Given the description of an element on the screen output the (x, y) to click on. 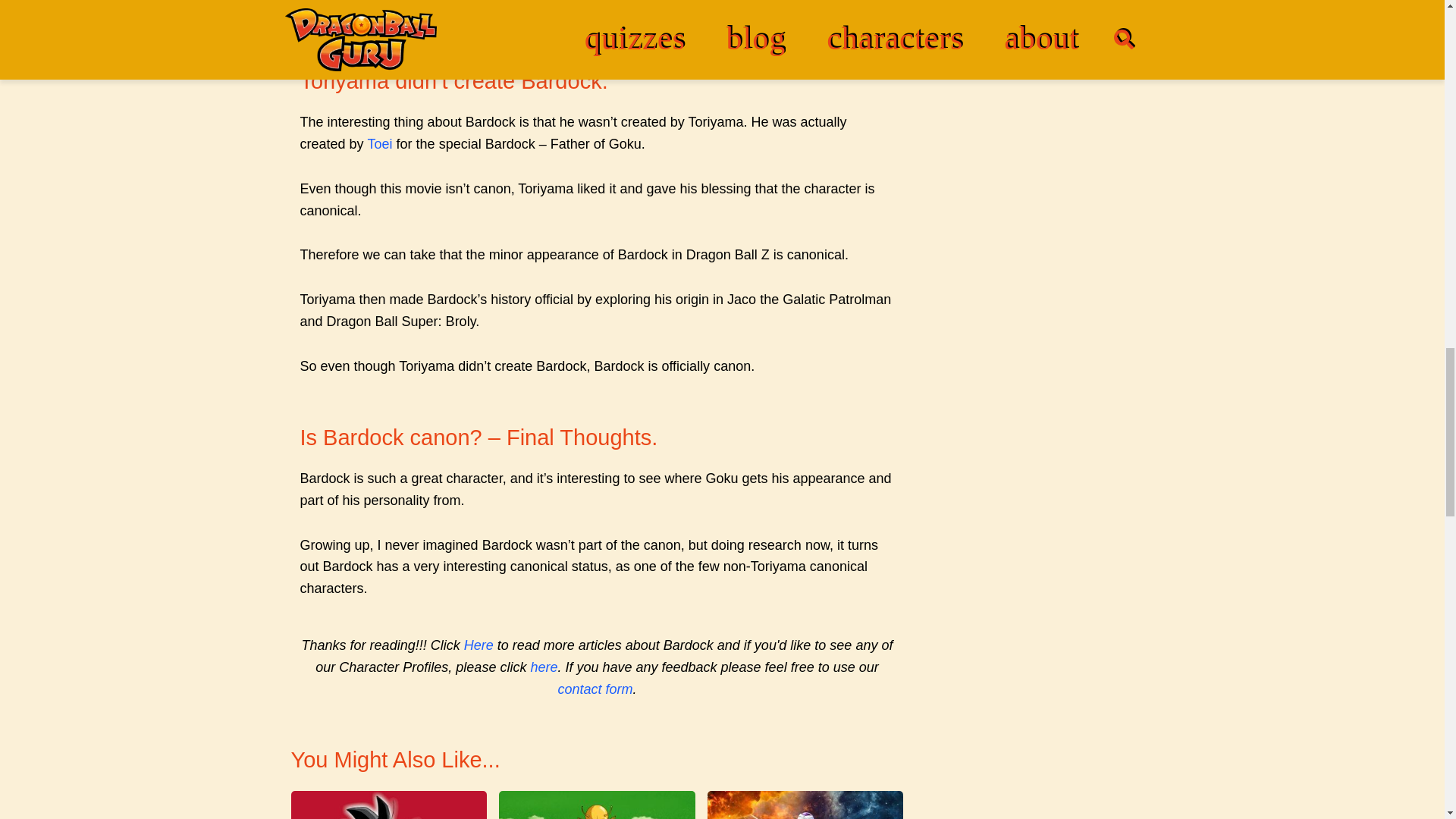
Is Bardock alive? (389, 805)
Toei (380, 143)
here (543, 667)
Is Piccolo Evil? (805, 805)
contact form (594, 688)
Here (478, 645)
